Given the description of an element on the screen output the (x, y) to click on. 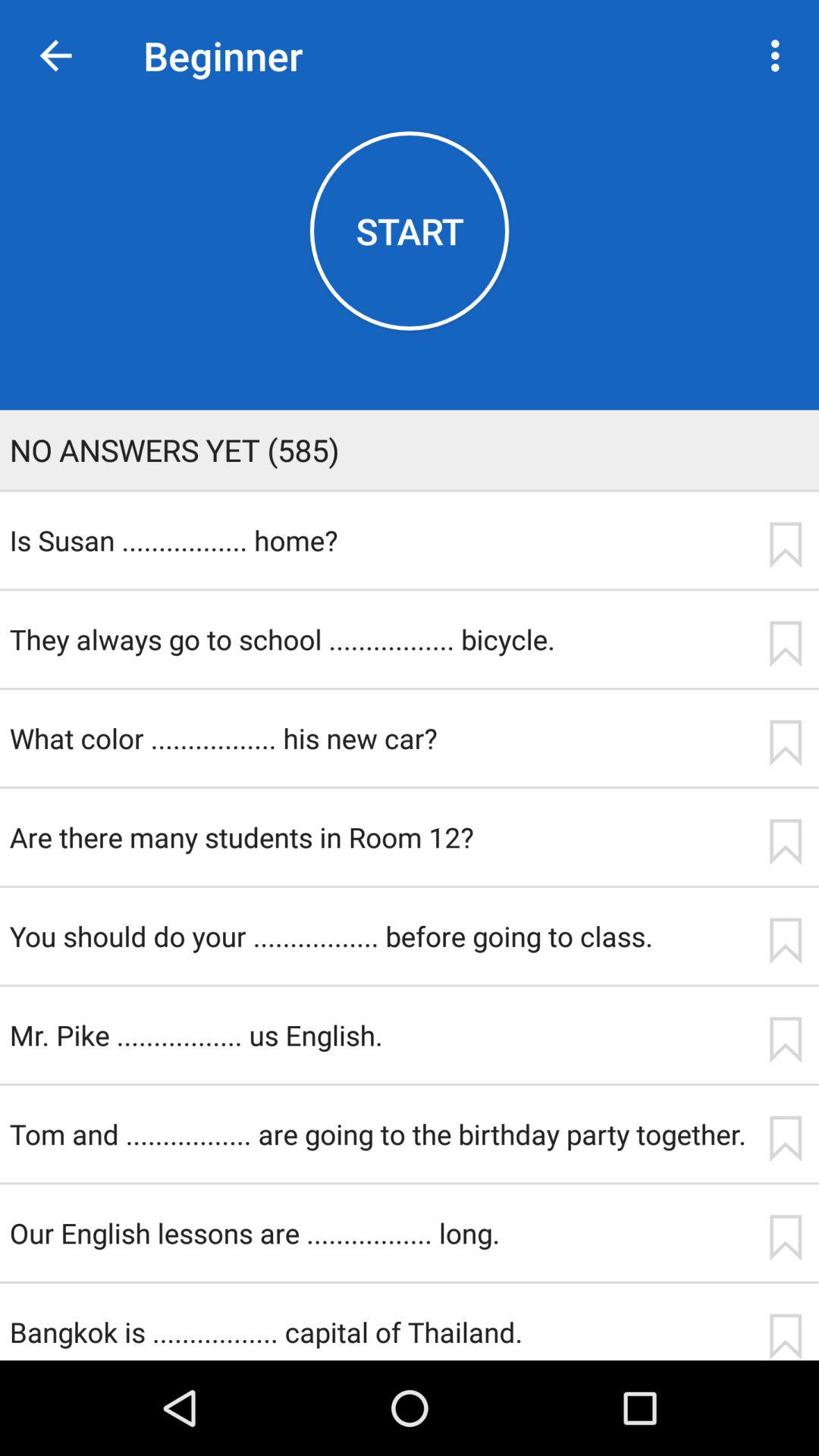
turn off icon next to the are there many (784, 841)
